Given the description of an element on the screen output the (x, y) to click on. 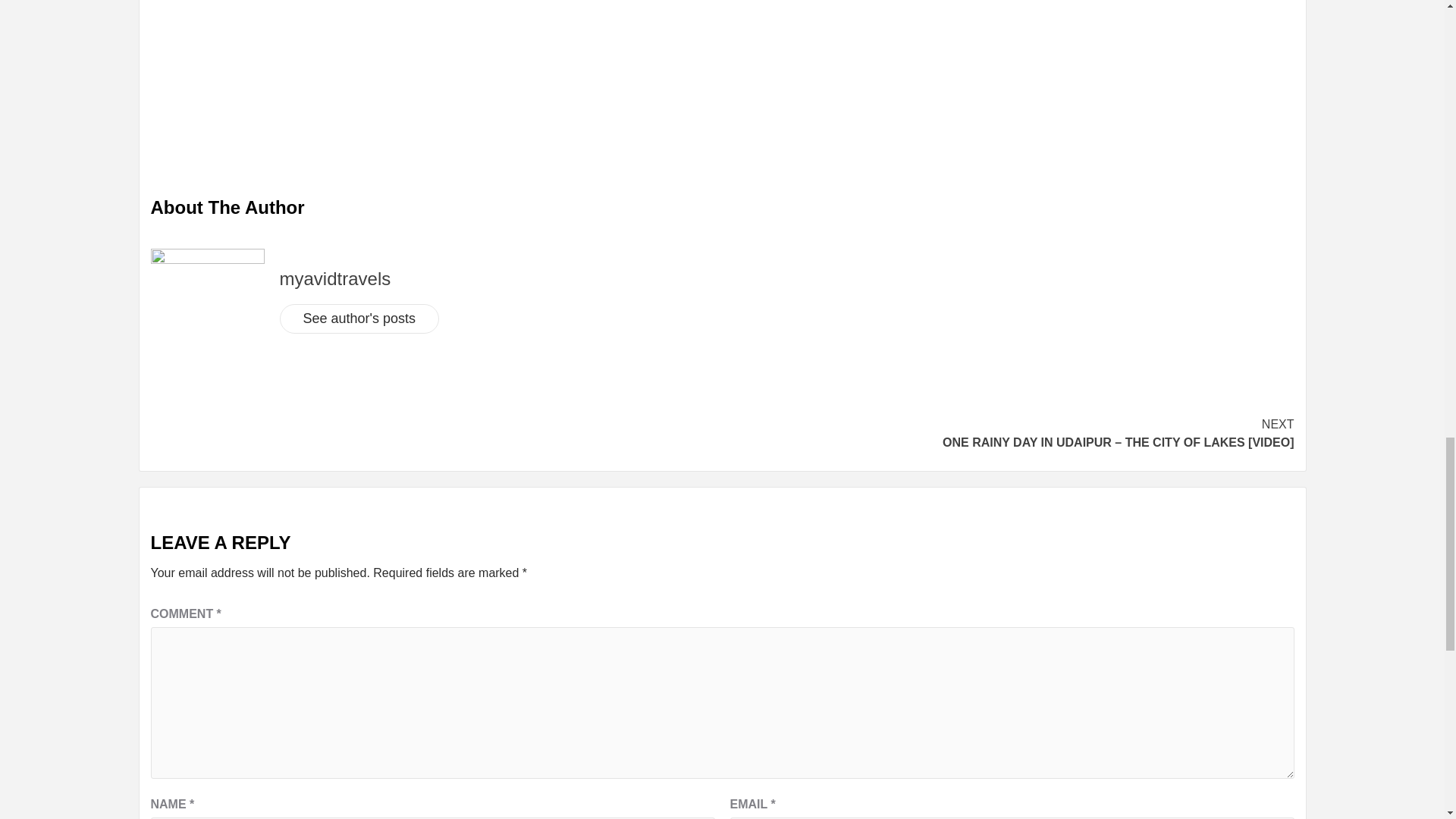
See author's posts (359, 318)
myavidtravels (334, 278)
